Given the description of an element on the screen output the (x, y) to click on. 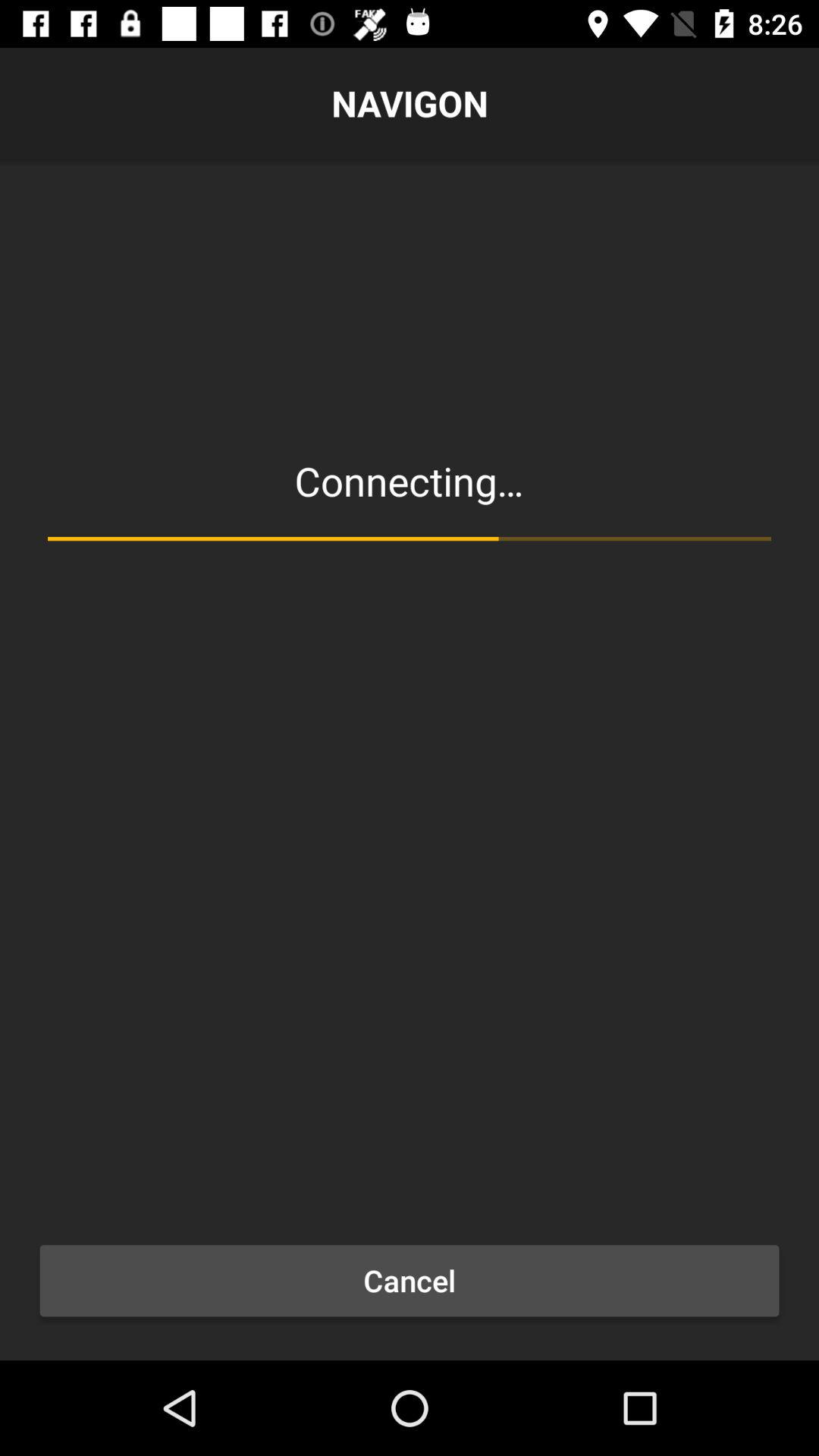
scroll to the cancel icon (409, 1280)
